Given the description of an element on the screen output the (x, y) to click on. 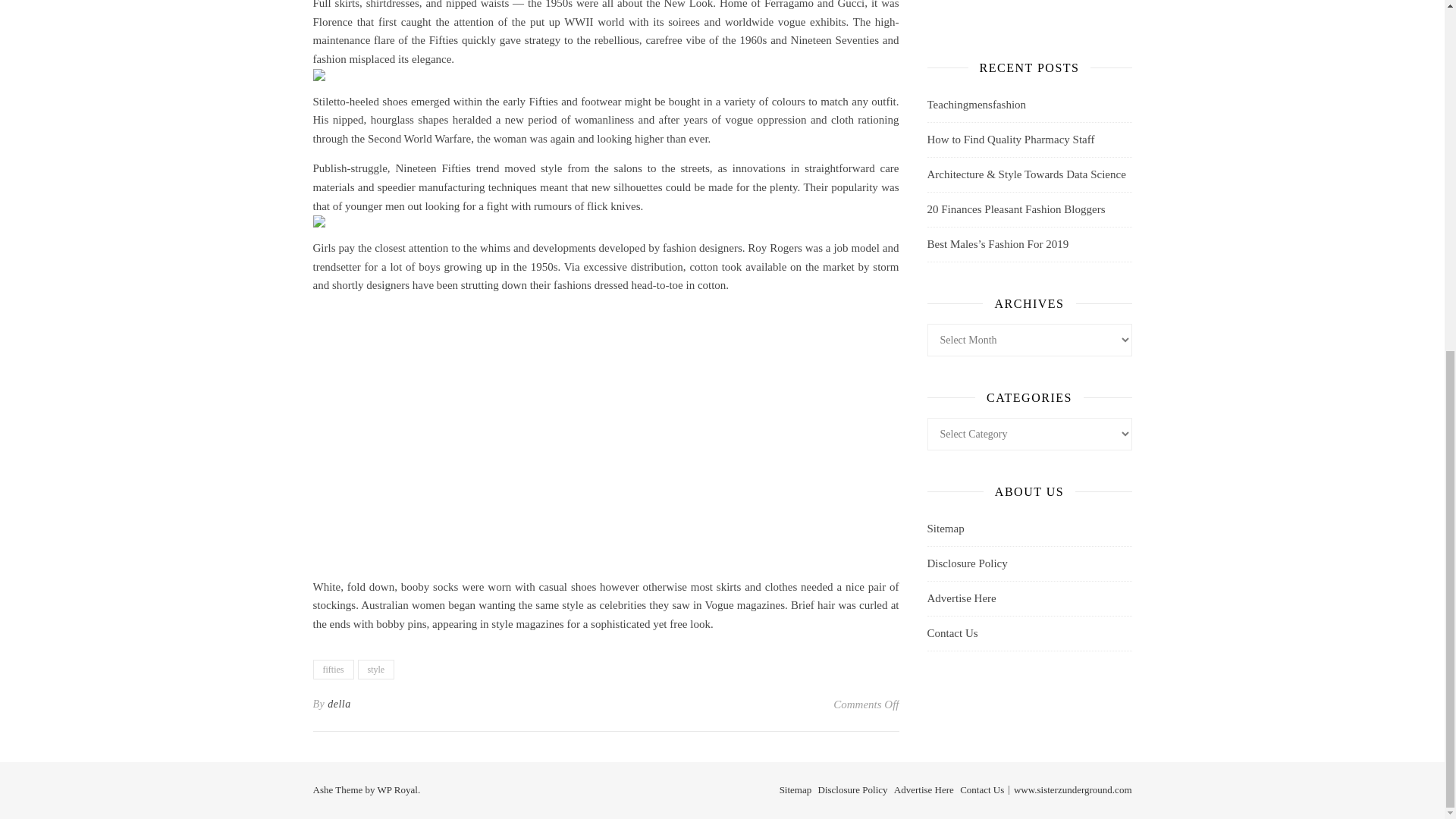
Posts by della (338, 703)
